Given the description of an element on the screen output the (x, y) to click on. 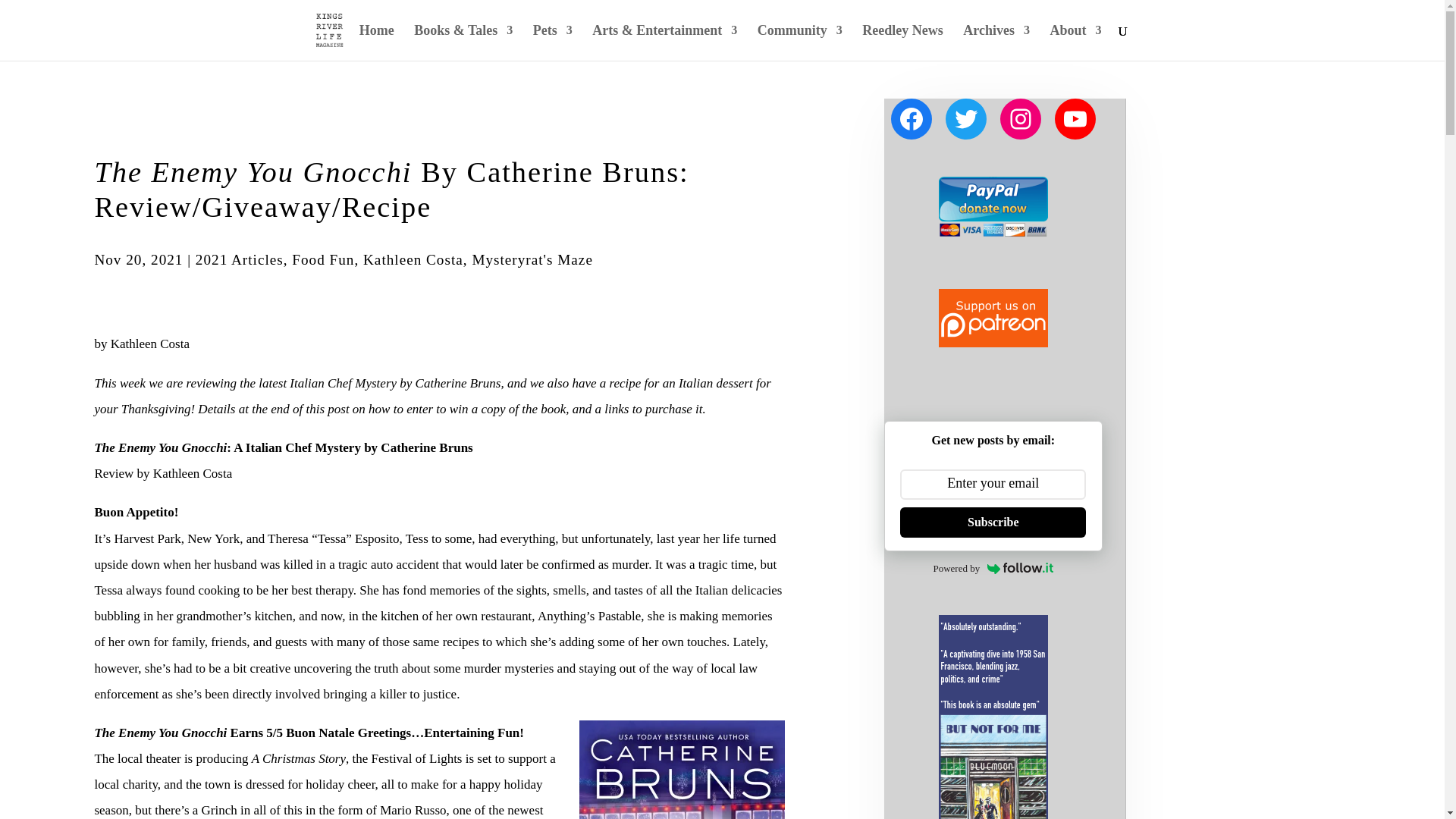
Pets (552, 42)
Home (376, 42)
Archives (995, 42)
Community (800, 42)
Reedley News (901, 42)
